Given the description of an element on the screen output the (x, y) to click on. 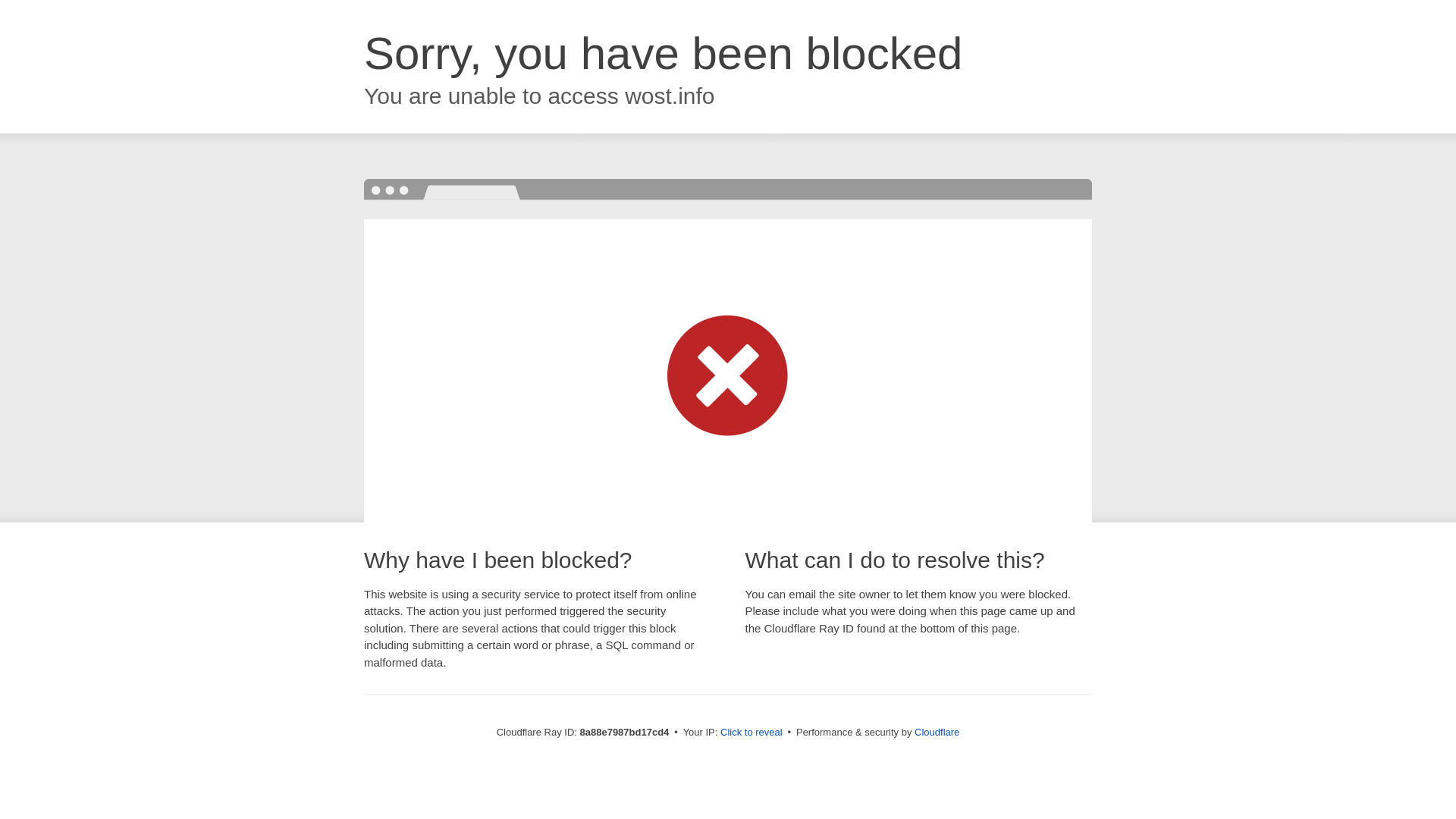
Click to reveal (751, 732)
Cloudflare (936, 731)
